Given the description of an element on the screen output the (x, y) to click on. 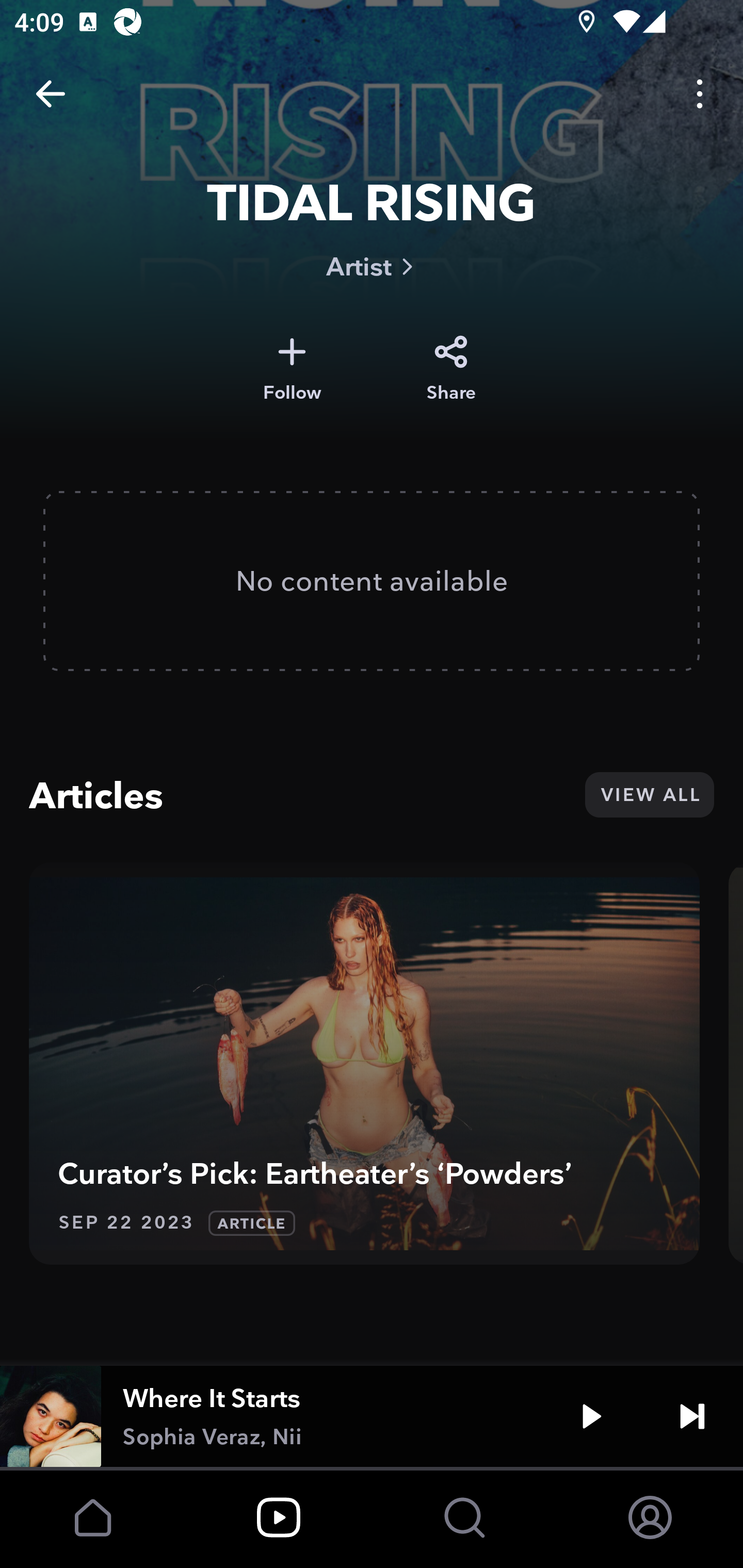
Options (699, 93)
Artist (371, 266)
Follow (291, 368)
Share (450, 368)
VIEW ALL (649, 793)
Curator’s Pick: Eartheater’s ‘Powders’ SEP 22 2023 (363, 1063)
Where It Starts Sophia Veraz, Nii Play (371, 1416)
Play (590, 1416)
